Given the description of an element on the screen output the (x, y) to click on. 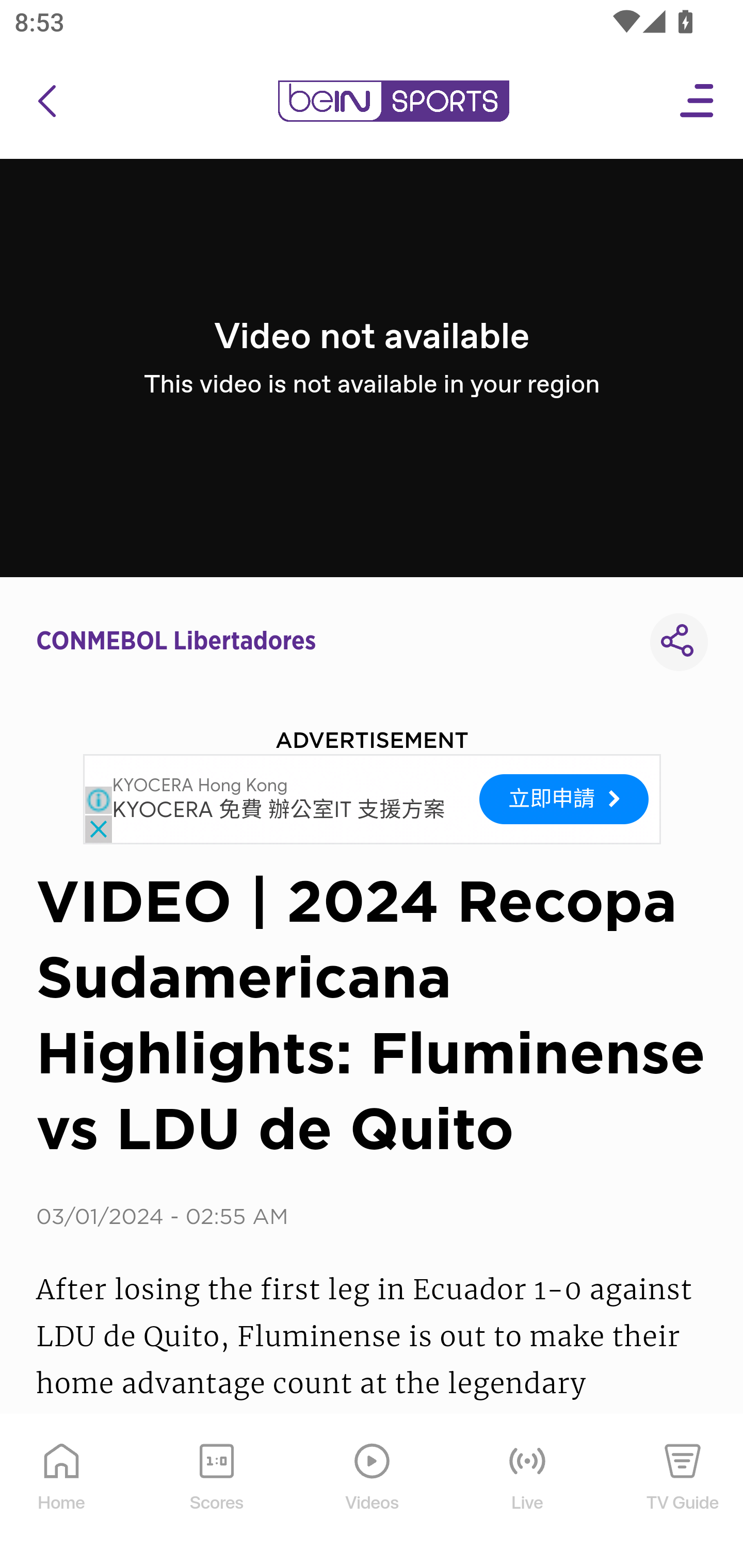
en-us?platform=mobile_android bein logo (392, 101)
icon back (46, 101)
Open Menu Icon (697, 101)
立即申請 (564, 798)
KYOCERA Hong Kong (200, 786)
KYOCERA 免費 辦公室IT 支援方案 (278, 810)
Home Home Icon Home (61, 1491)
Scores Scores Icon Scores (216, 1491)
Videos Videos Icon Videos (372, 1491)
TV Guide TV Guide Icon TV Guide (682, 1491)
